Given the description of an element on the screen output the (x, y) to click on. 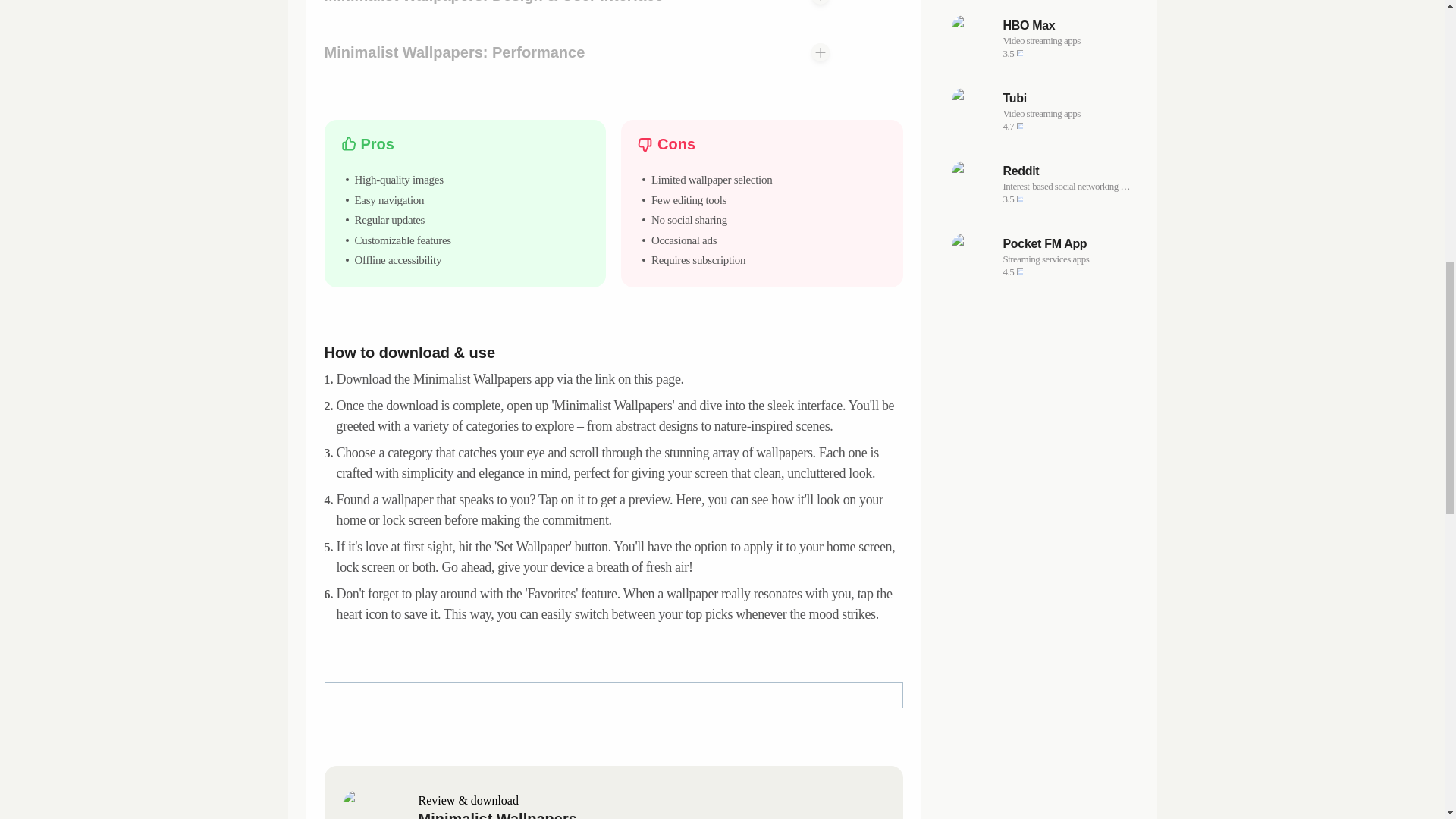
Tubi (1041, 110)
Interest-based social networking apps (1041, 256)
Video streaming apps (1067, 98)
Pocket FM App (1067, 186)
Reddit (1067, 40)
HBO Max (1067, 243)
Video streaming apps (1067, 170)
Streaming services apps (1041, 183)
Minimalist Wallpapers: Performance (1067, 25)
